Given the description of an element on the screen output the (x, y) to click on. 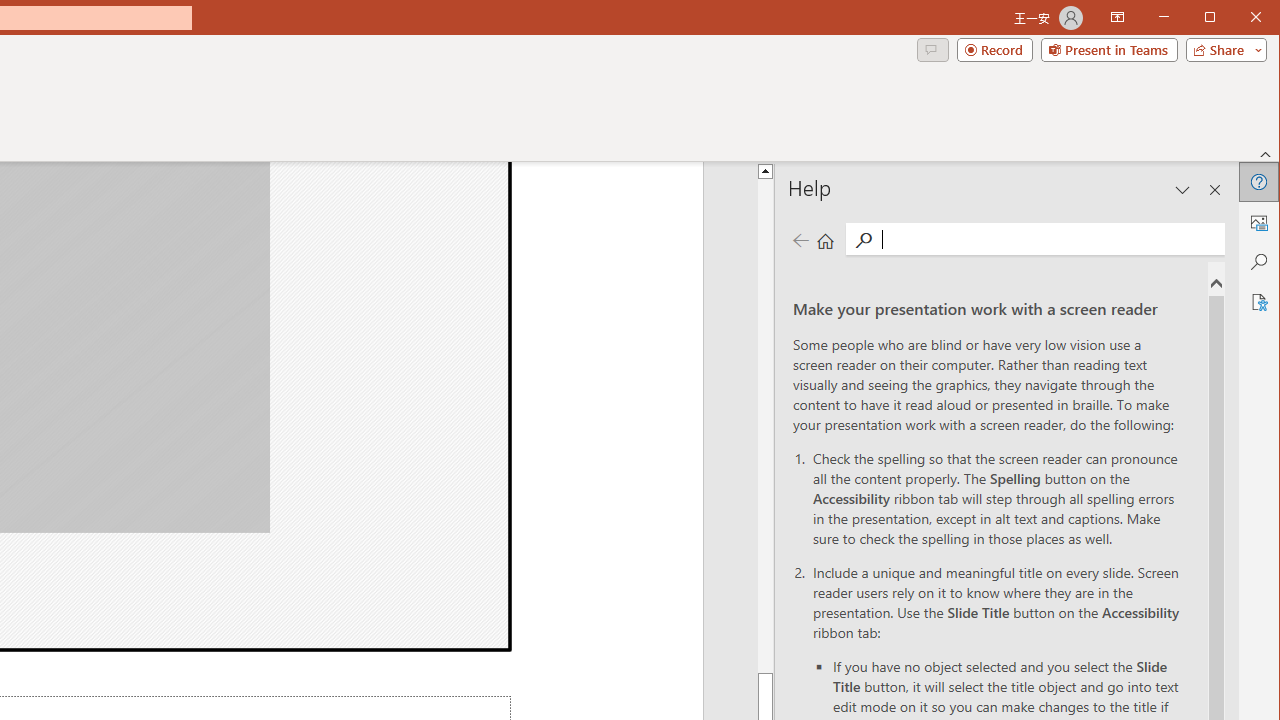
Alt Text (1258, 221)
Page up (970, 426)
Maximize (1238, 18)
